Given the description of an element on the screen output the (x, y) to click on. 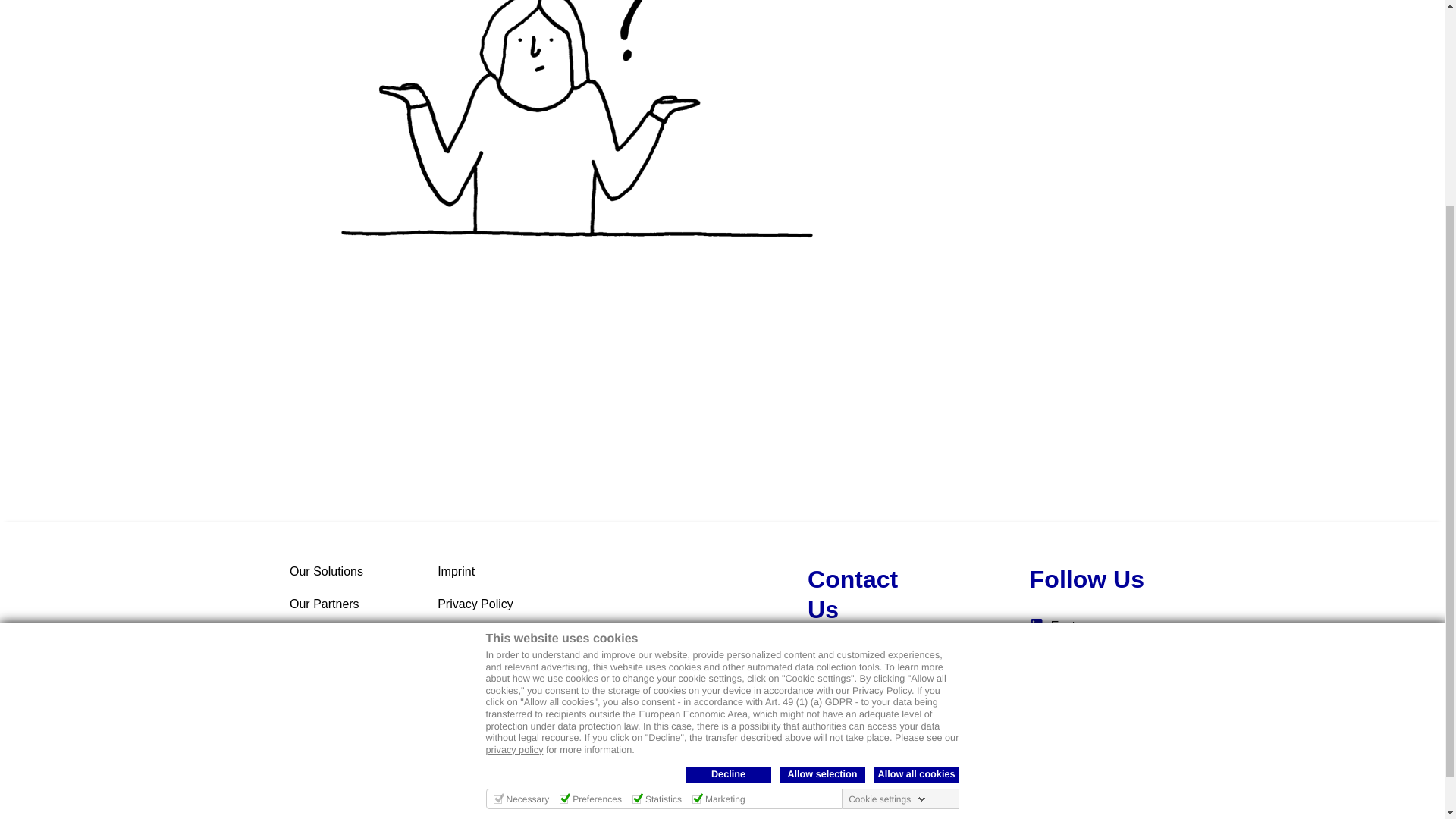
Allow all cookies (915, 495)
privacy policy (513, 470)
Cookie settings (886, 520)
Allow selection (821, 495)
Decline (727, 495)
